Given the description of an element on the screen output the (x, y) to click on. 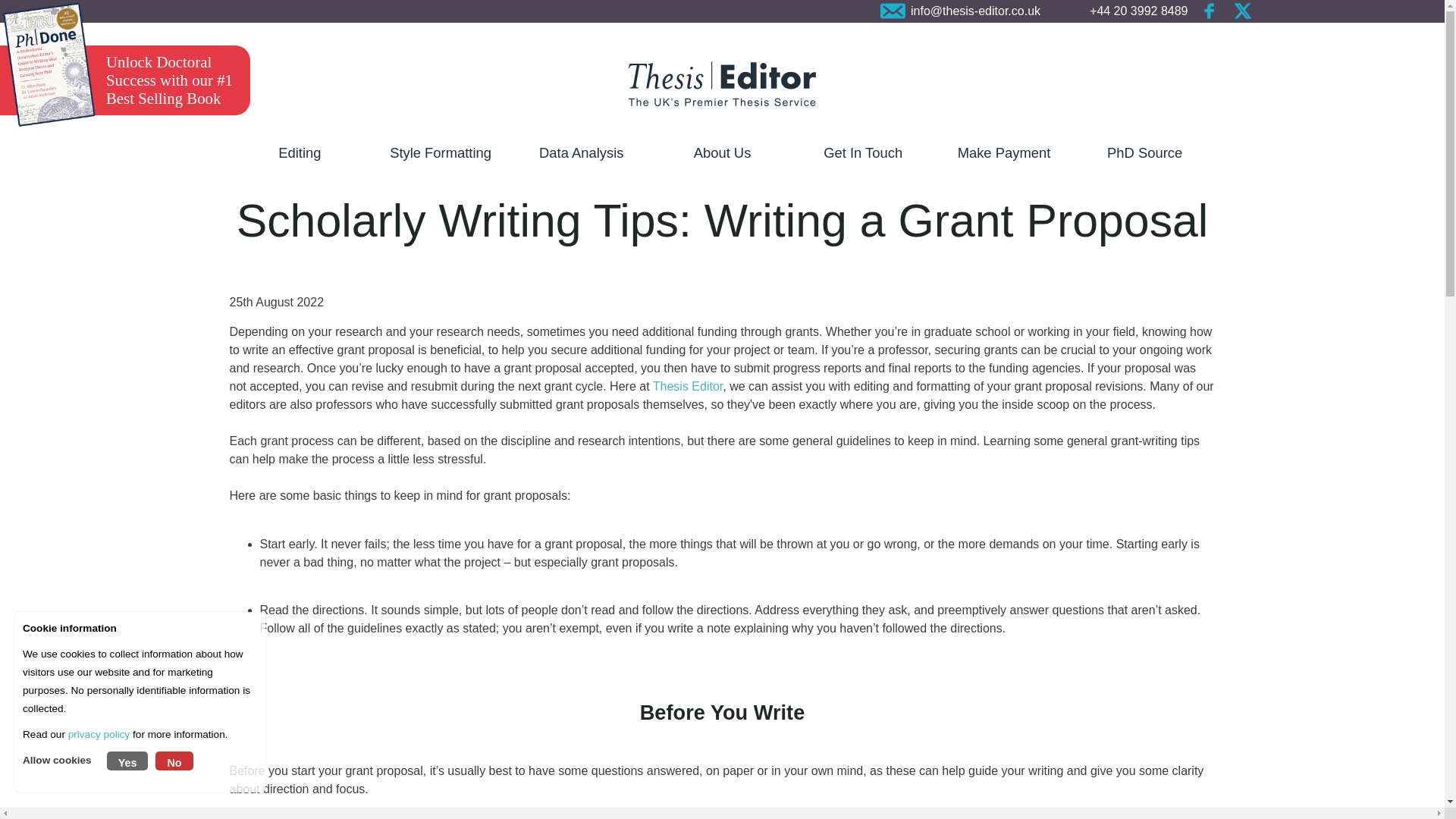
Call us (1123, 10)
PhD Source (1144, 157)
Make Payment (1003, 157)
Editing (298, 157)
Data Analysis (581, 157)
Email us (960, 11)
About Us (722, 157)
Facebook (1210, 10)
Get In Touch (862, 157)
Twitter (1241, 10)
Thesis Editor (687, 386)
Thesis Editor (721, 83)
Style Formatting (440, 157)
